Given the description of an element on the screen output the (x, y) to click on. 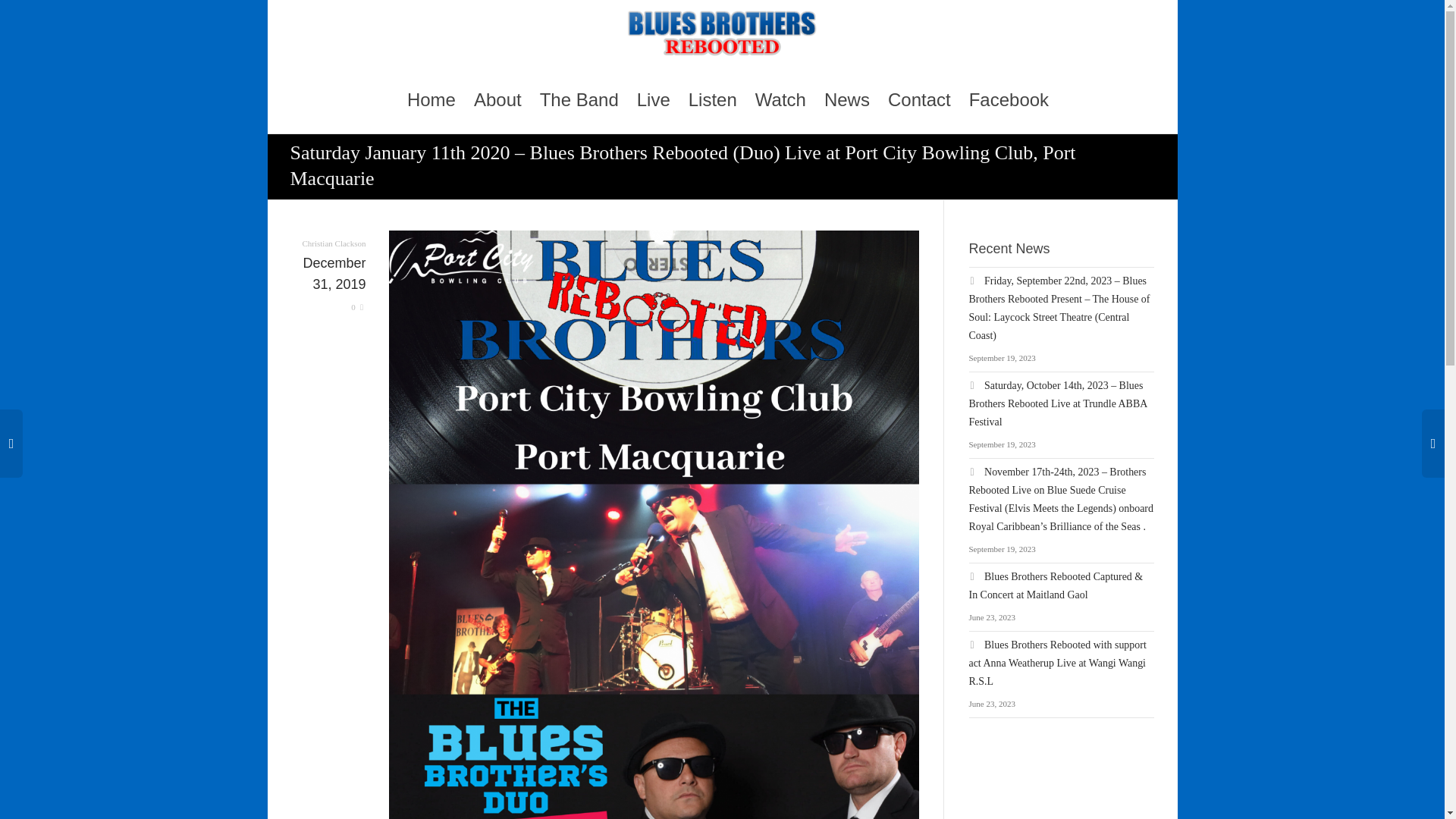
Contact (919, 99)
About (497, 99)
December 31, 2019 (327, 285)
News (846, 99)
Facebook (1008, 99)
Watch (780, 99)
View all POSTS by Christian Clackson (333, 243)
Watch (780, 99)
Christian Clackson (333, 243)
0 (357, 307)
The Band (579, 99)
News (846, 99)
Contact (919, 99)
Listen (712, 99)
